Given the description of an element on the screen output the (x, y) to click on. 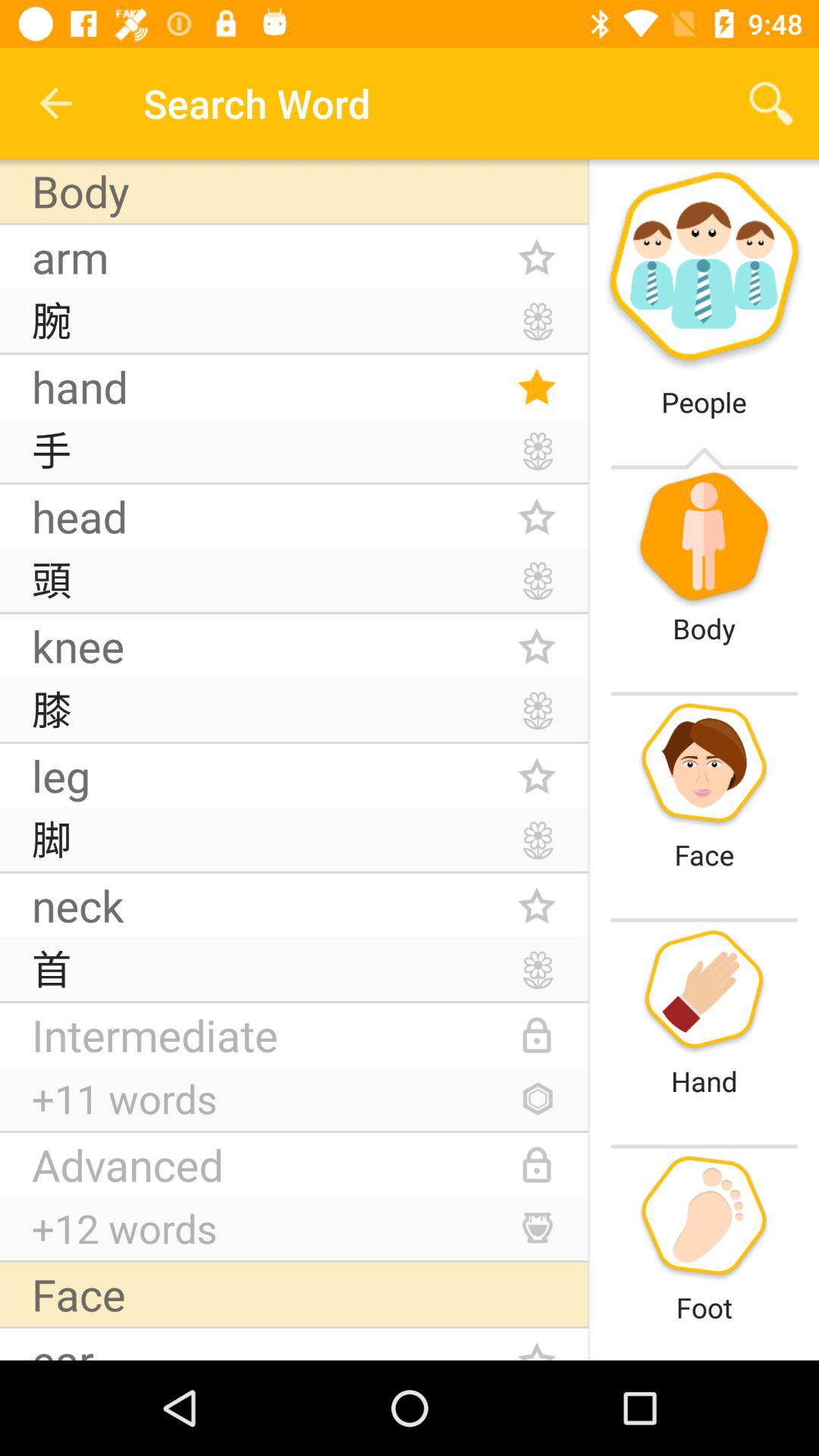
click the item next to search word icon (55, 103)
